Given the description of an element on the screen output the (x, y) to click on. 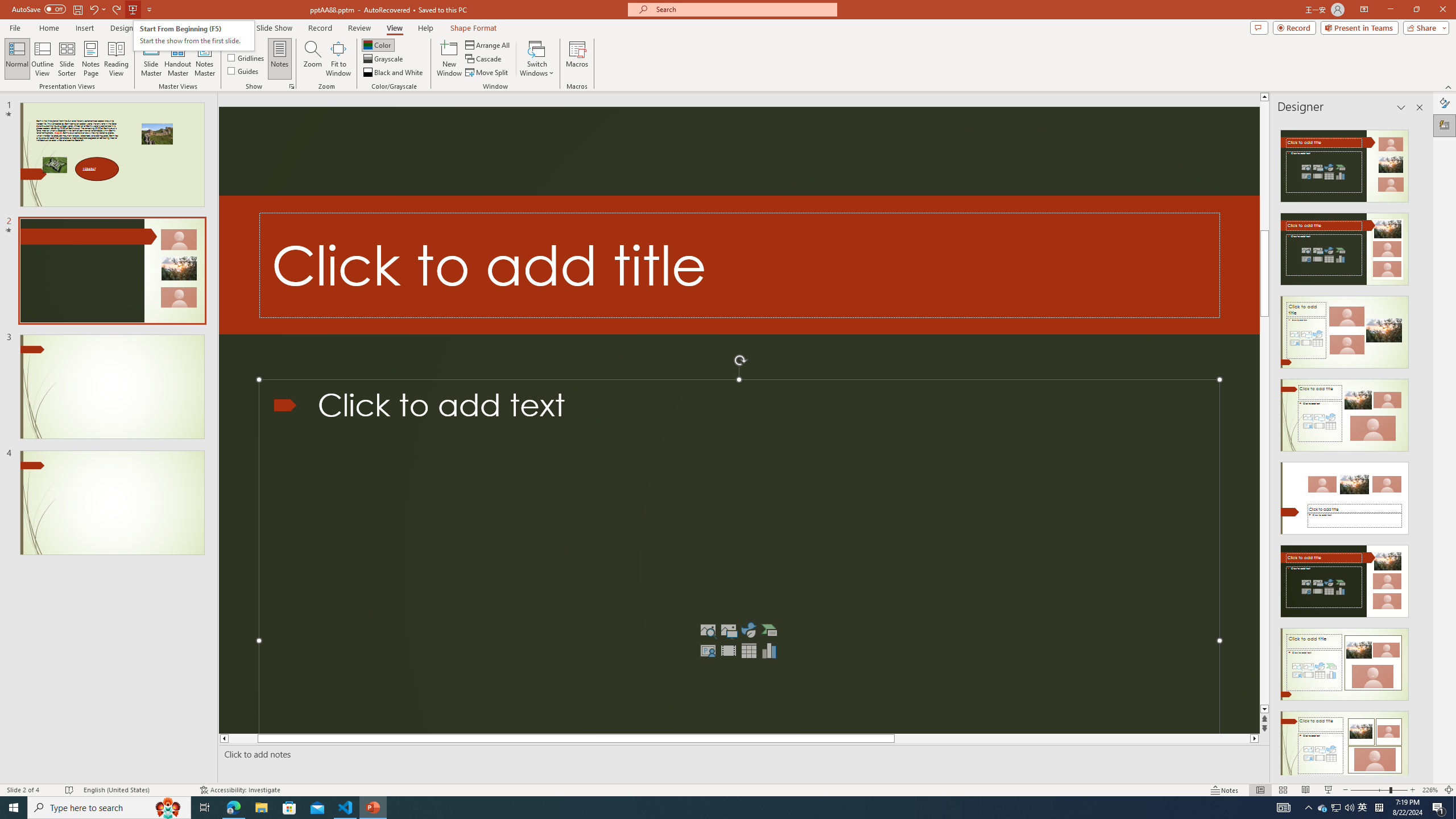
Decorative Locked (738, 264)
Content Placeholder (739, 556)
Fit to Window (338, 58)
Macros (576, 58)
Grid Settings... (291, 85)
